Given the description of an element on the screen output the (x, y) to click on. 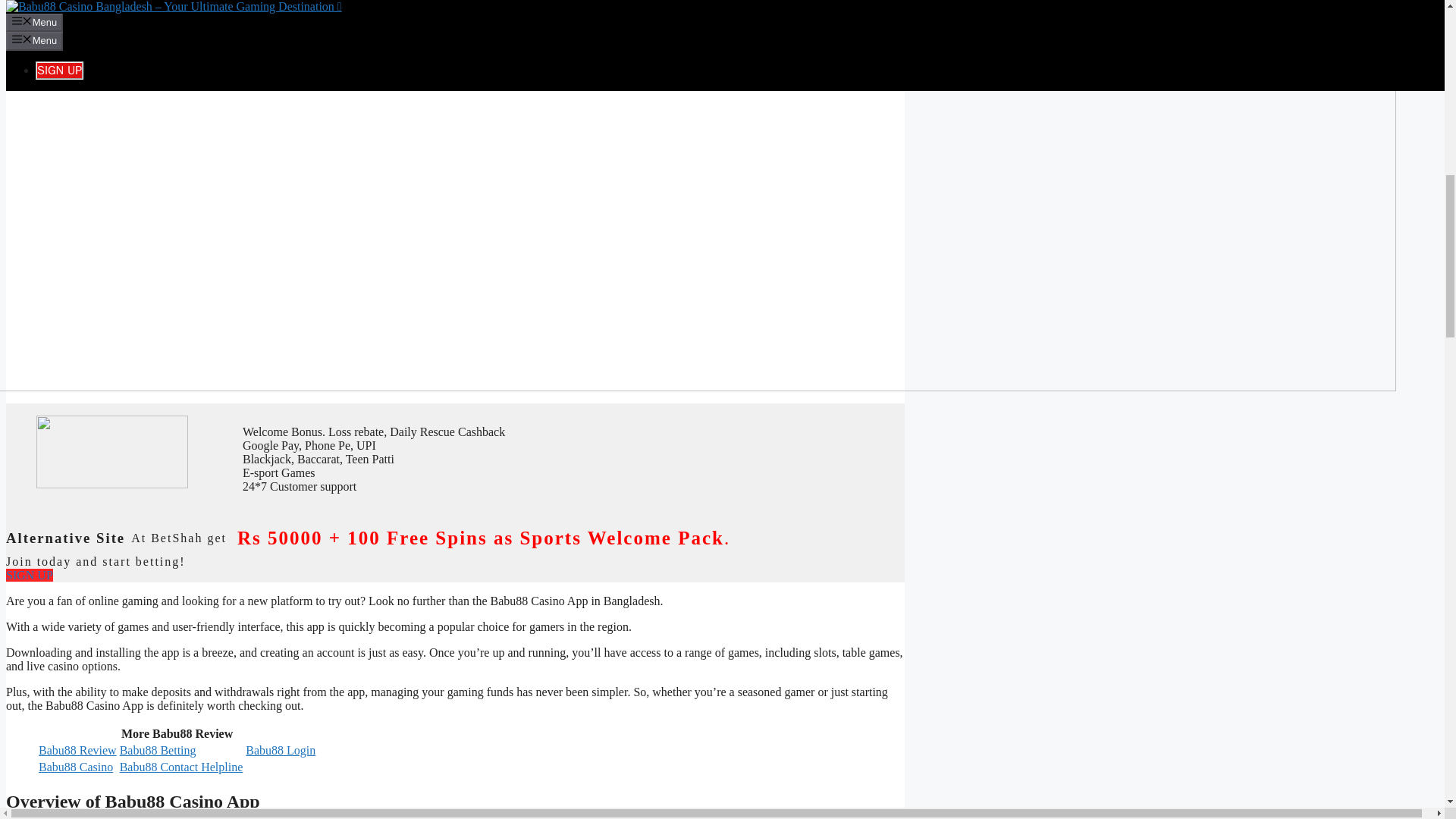
SIGN UP (28, 574)
Babu88 Betting (157, 749)
Babu88 Review (77, 749)
Babu88 Login (280, 749)
Babu88 Casino (76, 766)
Babu88 Contact Helpline (181, 766)
